Given the description of an element on the screen output the (x, y) to click on. 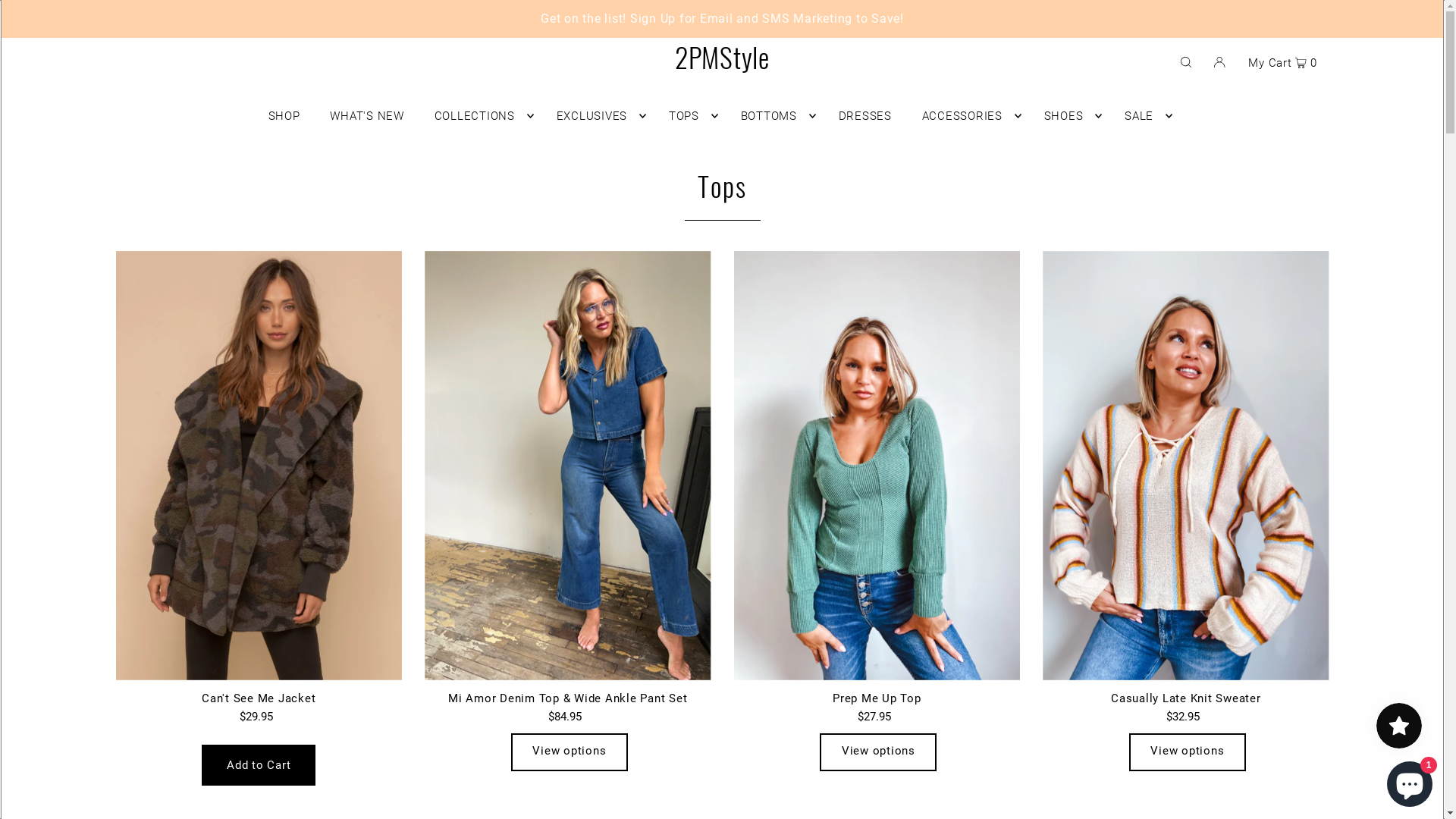
WHAT'S NEW Element type: text (366, 115)
View options Element type: text (877, 752)
SHOES Element type: text (1069, 115)
SALE Element type: text (1144, 115)
Casually Late Knit Sweater Element type: hover (1185, 465)
ACCESSORIES Element type: text (967, 115)
Casually Late Knit Sweater Element type: text (1185, 698)
2PMStyle Element type: text (721, 56)
Prep Me Up Top Element type: hover (877, 465)
Add to Cart Element type: text (258, 764)
Mi Amor Denim Top & Wide Ankle Pant Set Element type: text (567, 698)
EXCLUSIVES Element type: text (597, 115)
Prep Me Up Top Element type: text (877, 698)
Mi Amor Denim Top & Wide Ankle Pant Set Element type: hover (567, 465)
TOPS Element type: text (689, 115)
DRESSES Element type: text (865, 115)
Can't See Me Jacket Element type: text (258, 698)
Smile.io Rewards Program Launcher Element type: hover (1398, 725)
COLLECTIONS Element type: text (479, 115)
View options Element type: text (569, 752)
BOTTOMS Element type: text (774, 115)
View options Element type: text (1187, 752)
SHOP Element type: text (283, 115)
Shopify online store chat Element type: hover (1409, 780)
Can't See Me Jacket Element type: hover (258, 465)
